Given the description of an element on the screen output the (x, y) to click on. 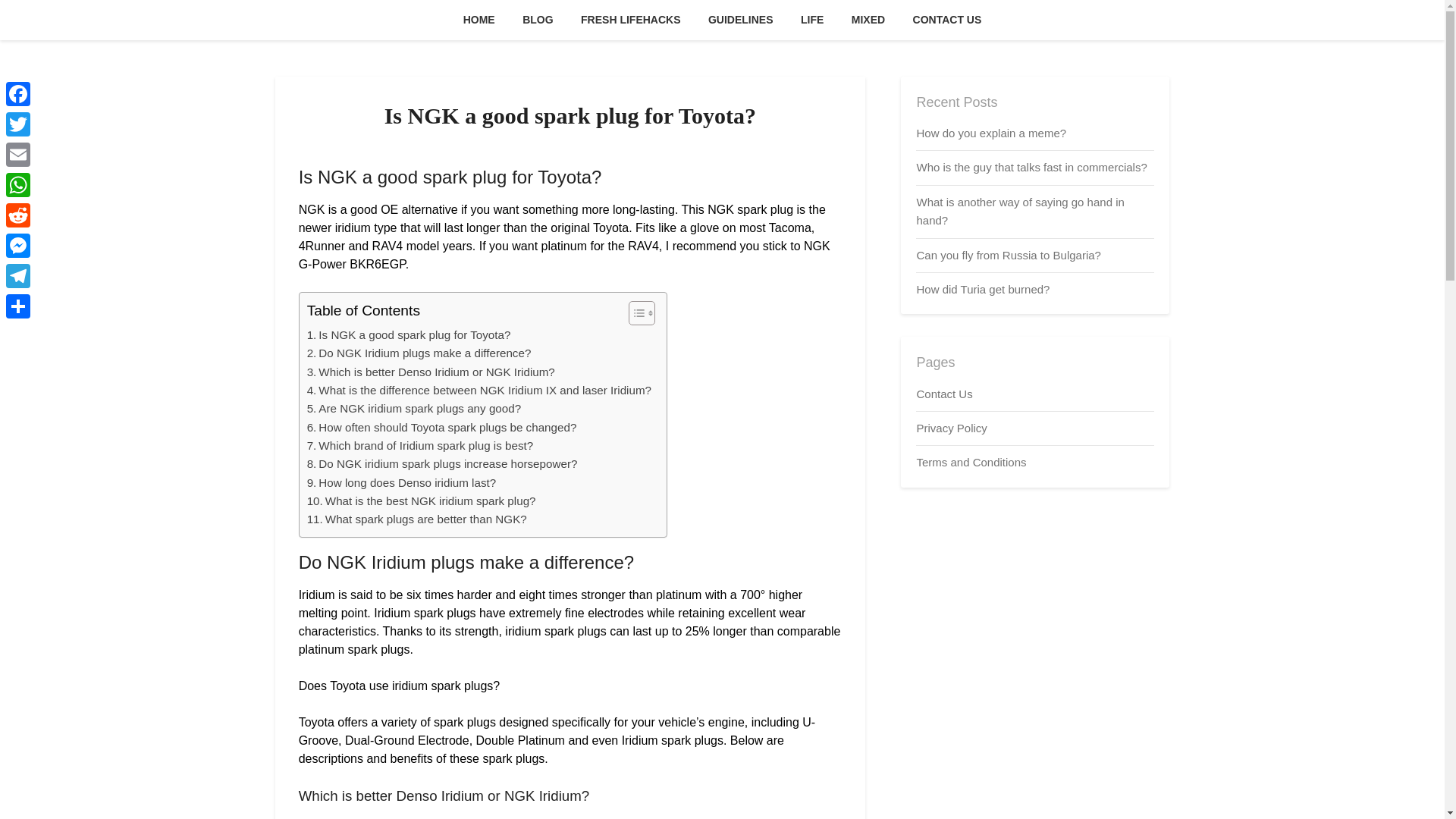
Can you fly from Russia to Bulgaria? (1007, 254)
Terms and Conditions (970, 461)
GUIDELINES (740, 20)
Do NGK iridium spark plugs increase horsepower? (442, 464)
What is the best NGK iridium spark plug? (421, 501)
FRESH LIFEHACKS (631, 20)
How long does Denso iridium last? (401, 483)
What is another way of saying go hand in hand? (1019, 210)
How do you explain a meme? (990, 132)
MIXED (868, 20)
How often should Toyota spark plugs be changed? (441, 427)
Which is better Denso Iridium or NGK Iridium? (430, 372)
How often should Toyota spark plugs be changed? (441, 427)
Do NGK iridium spark plugs increase horsepower? (442, 464)
